Given the description of an element on the screen output the (x, y) to click on. 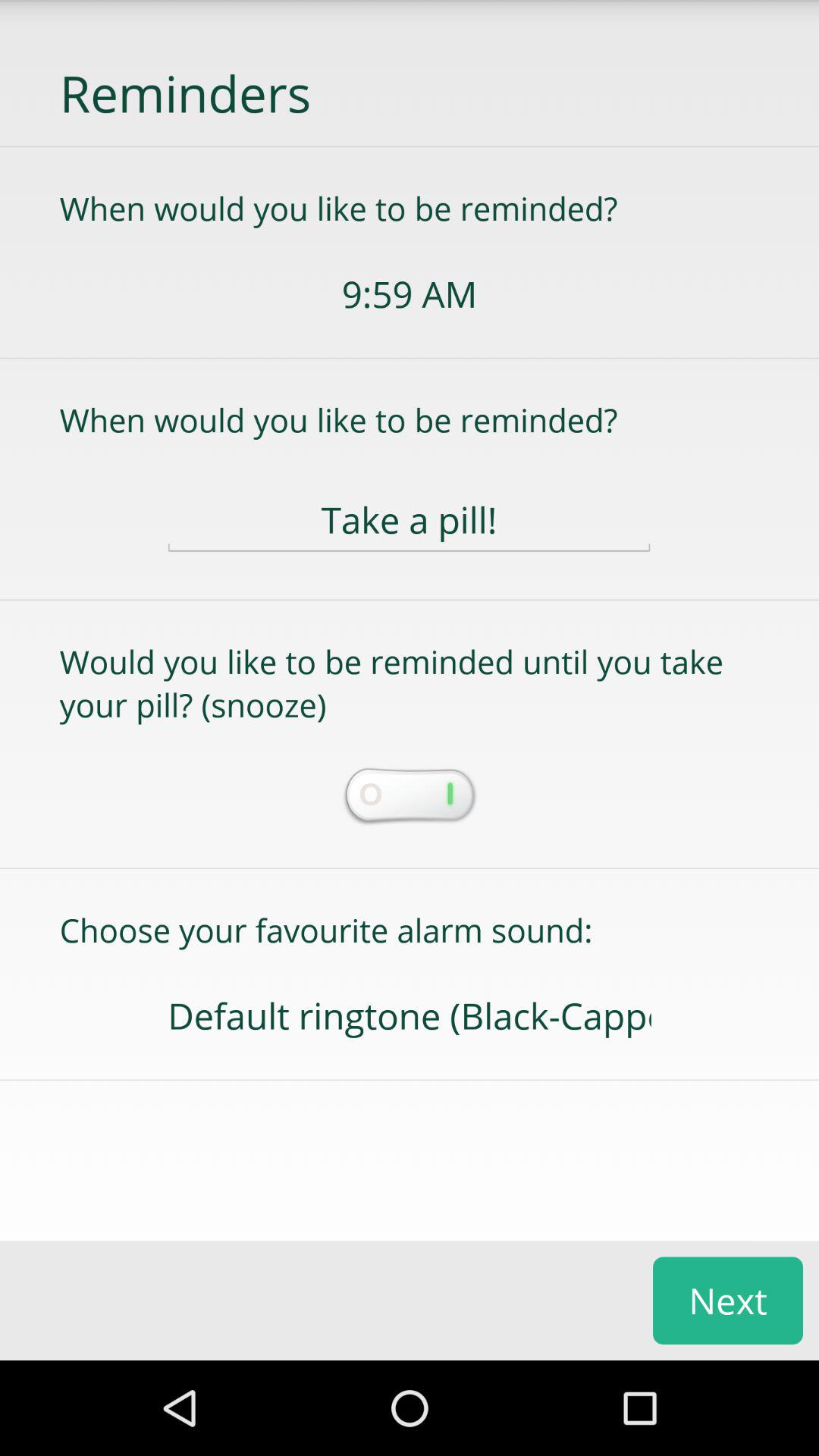
click the blinking box if you want to setup a reminder to take your pills (408, 797)
